Given the description of an element on the screen output the (x, y) to click on. 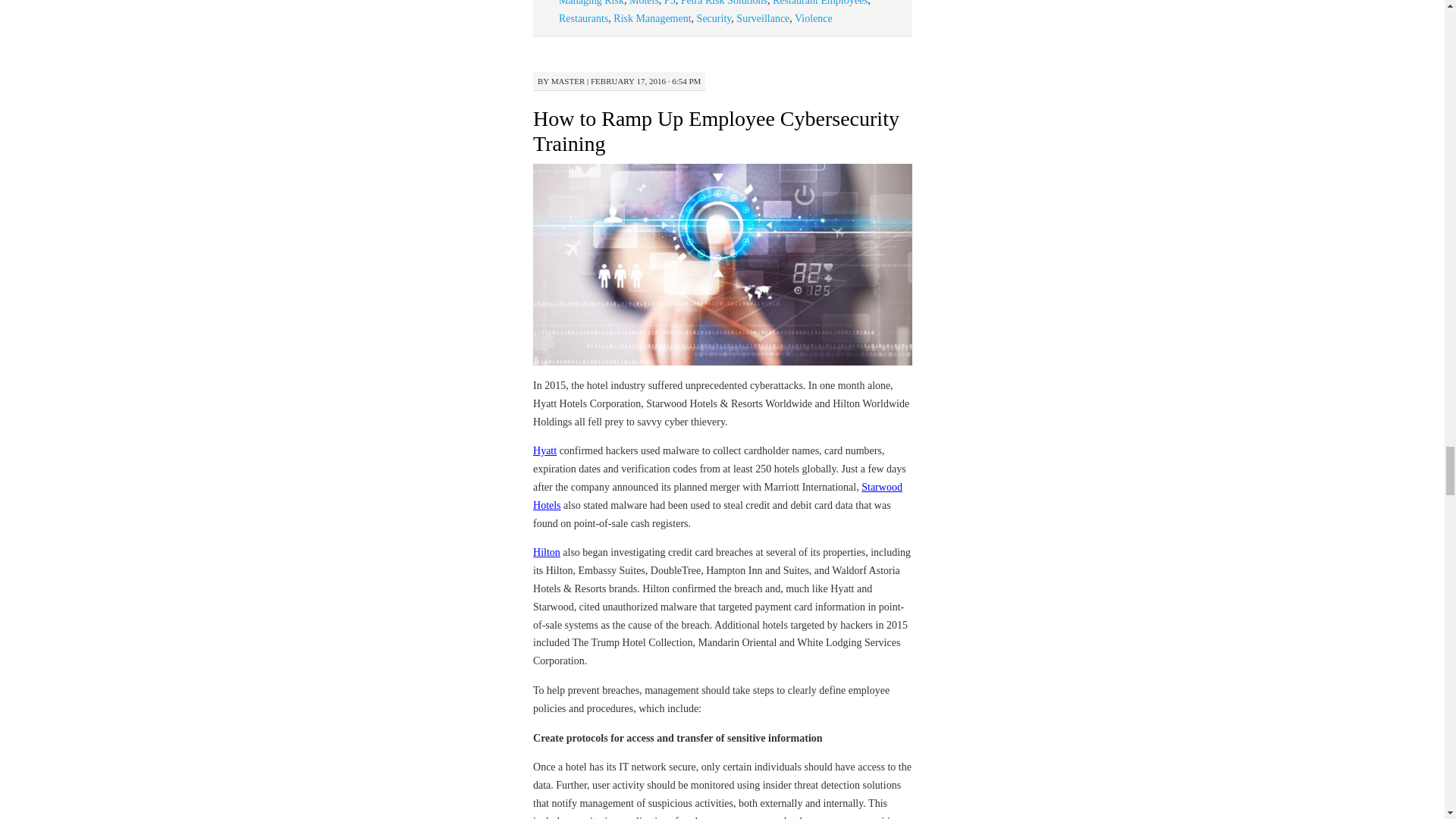
View all posts by master (568, 80)
